Given the description of an element on the screen output the (x, y) to click on. 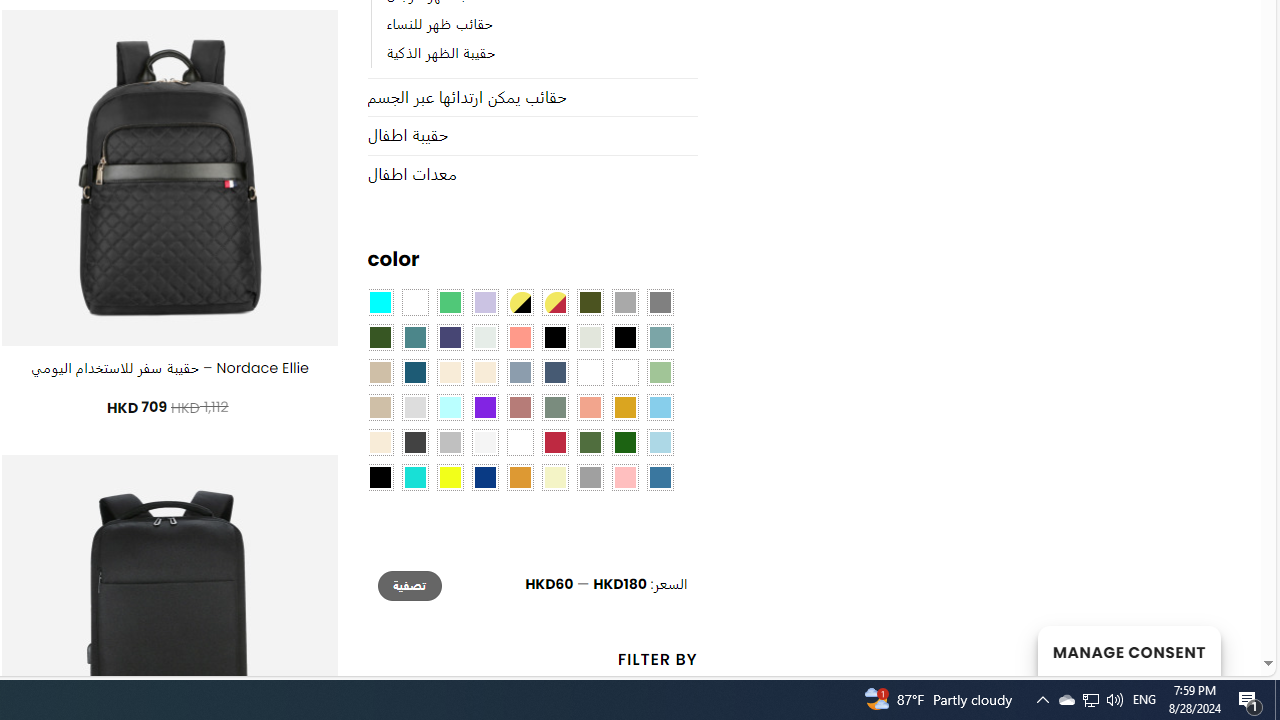
Clear (414, 303)
All Black (554, 337)
Light Purple (484, 303)
Ash Gray (589, 337)
